Given the description of an element on the screen output the (x, y) to click on. 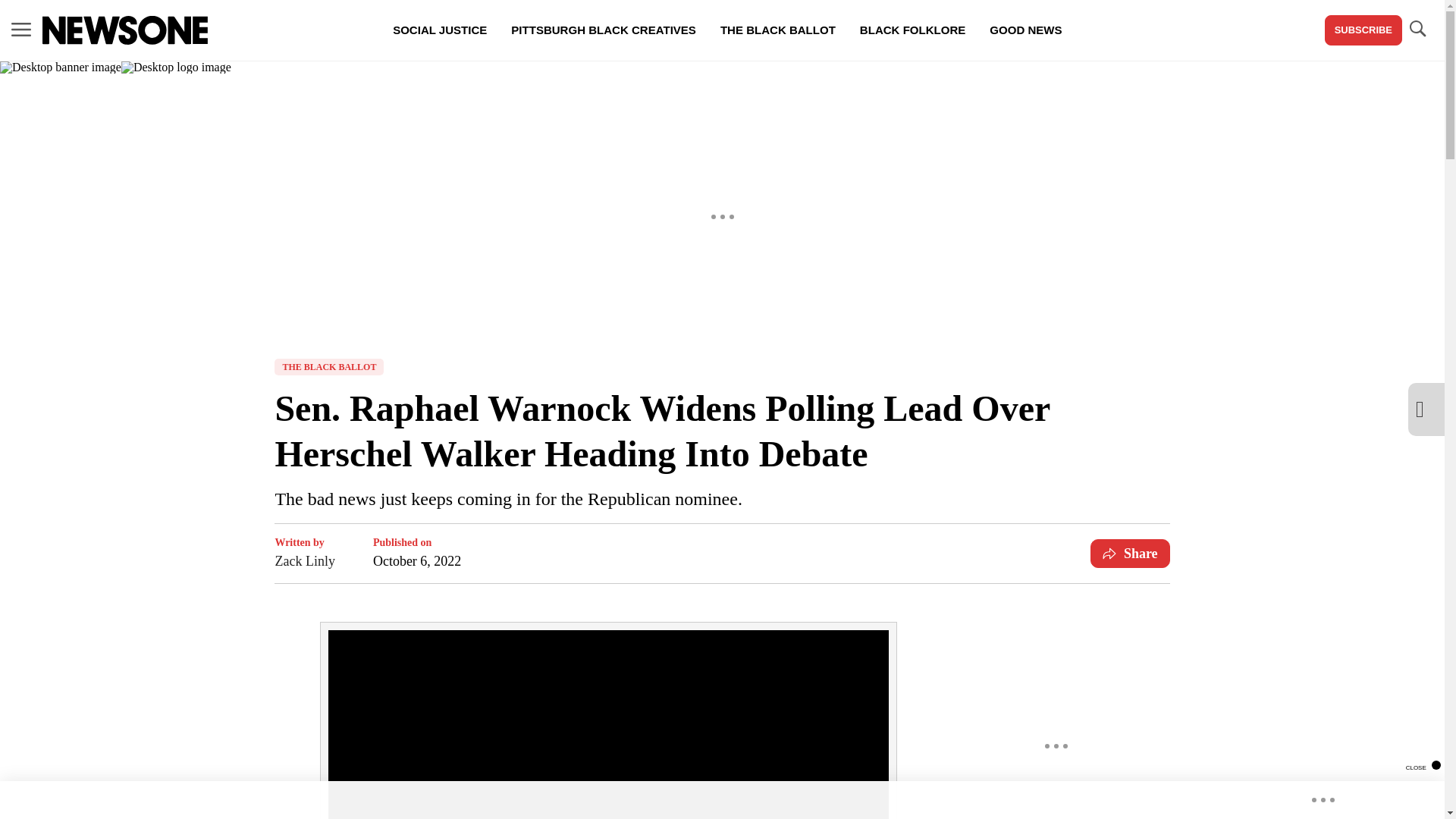
PITTSBURGH BLACK CREATIVES (603, 30)
SOCIAL JUSTICE (439, 30)
THE BLACK BALLOT (329, 366)
MENU (20, 29)
BLACK FOLKLORE (911, 30)
SUBSCRIBE (1363, 30)
TOGGLE SEARCH (1417, 30)
Share (1130, 553)
TOGGLE SEARCH (1417, 28)
MENU (20, 30)
Zack Linly (304, 560)
THE BLACK BALLOT (777, 30)
GOOD NEWS (1025, 30)
